Given the description of an element on the screen output the (x, y) to click on. 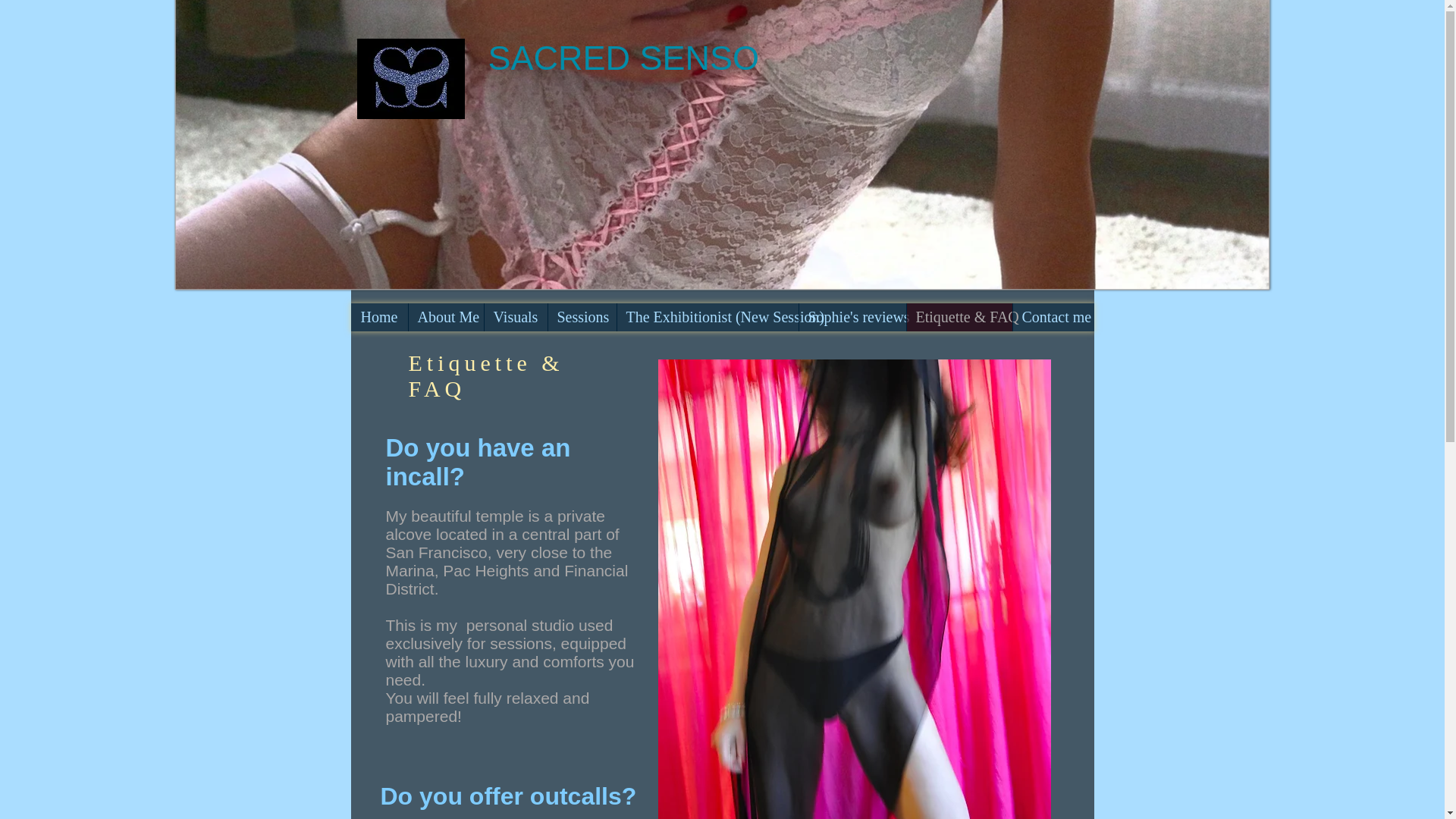
Sessions (581, 317)
SACRED SENSO (623, 57)
Sophie's reviews (851, 317)
About Me (445, 317)
Contact me (1052, 317)
Home (378, 317)
Visuals (515, 317)
